Given the description of an element on the screen output the (x, y) to click on. 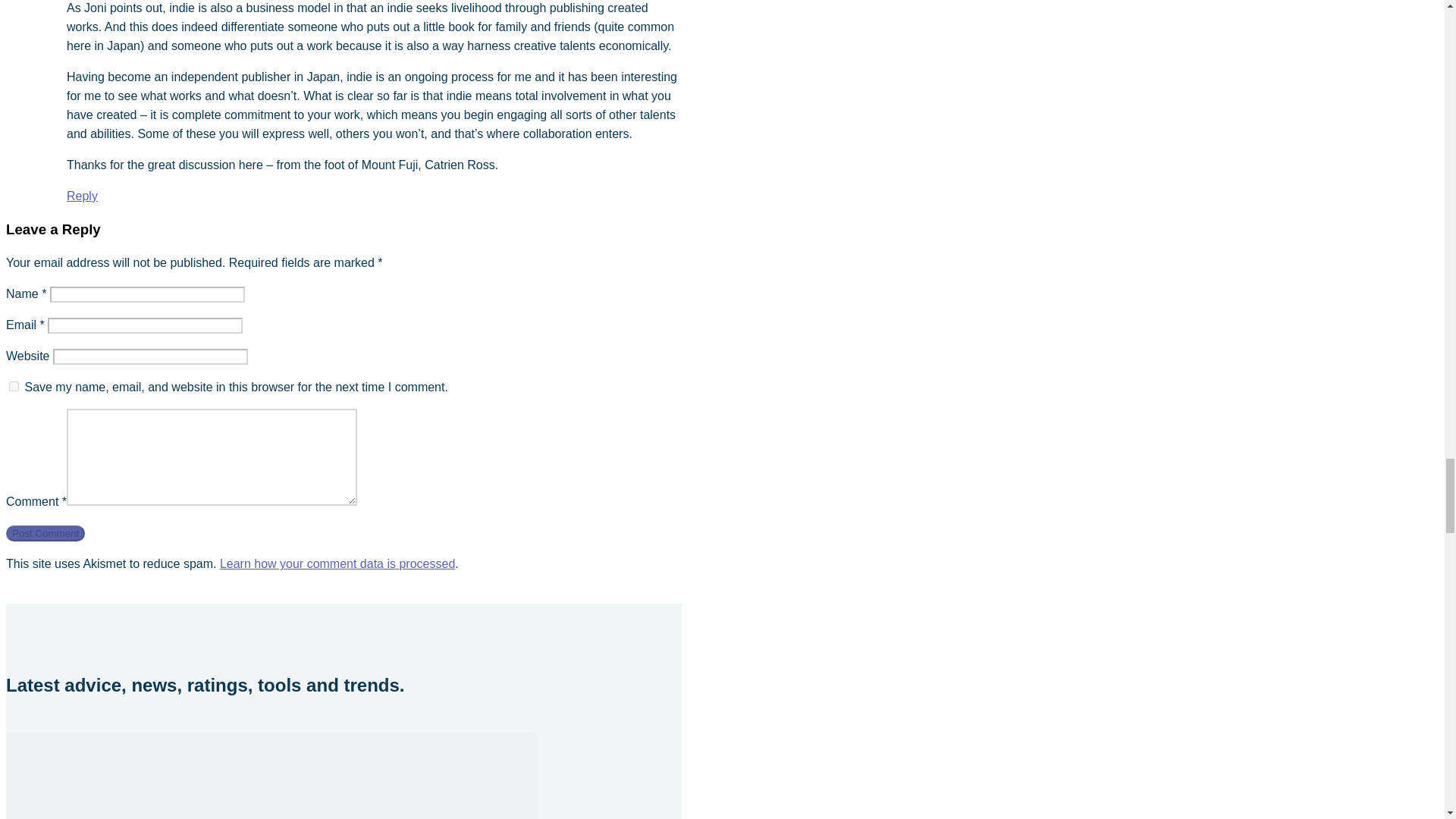
yes (13, 386)
Post Comment (44, 533)
